Given the description of an element on the screen output the (x, y) to click on. 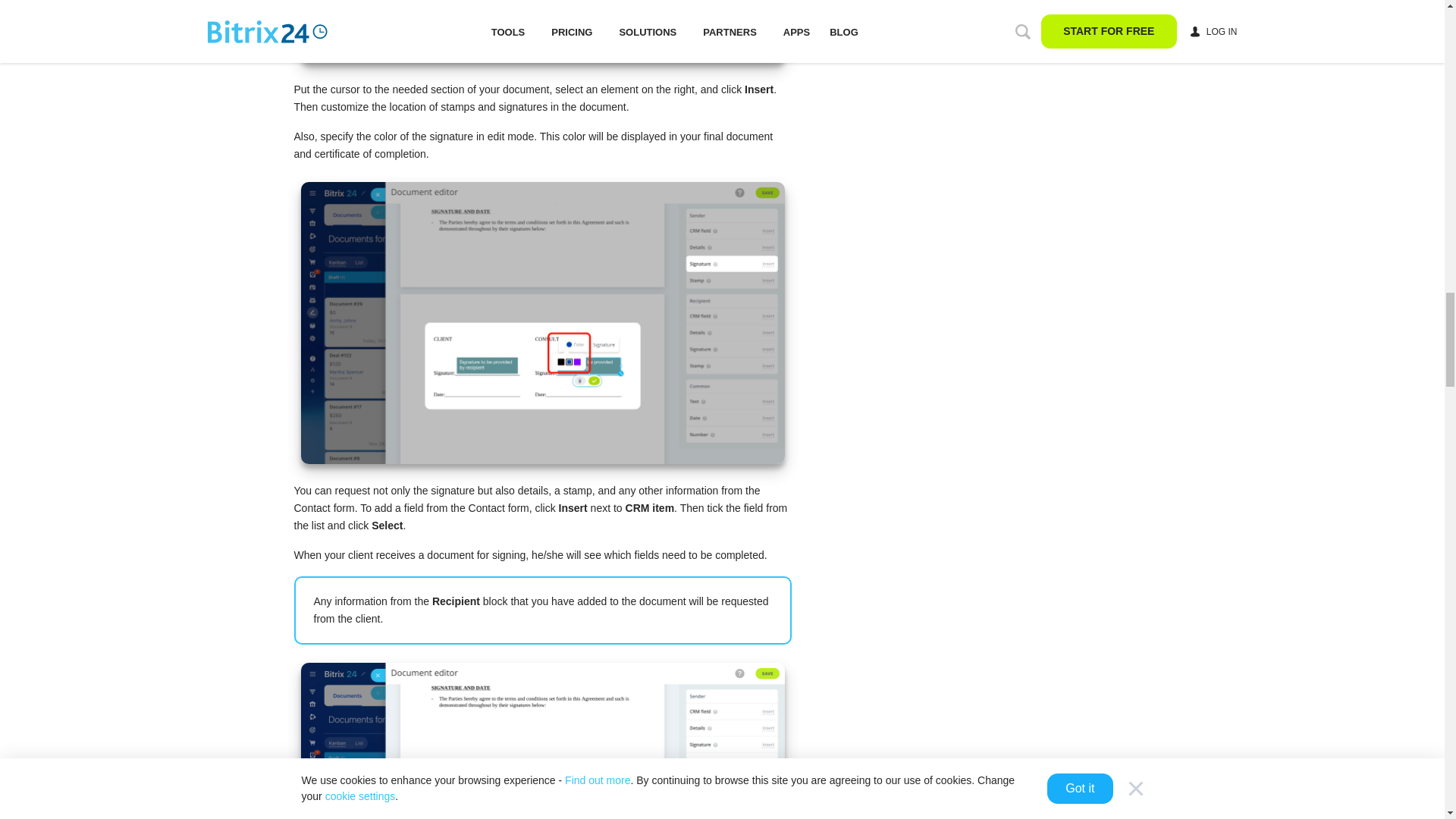
Insert CRM field (541, 740)
Edit contract (541, 31)
